Given the description of an element on the screen output the (x, y) to click on. 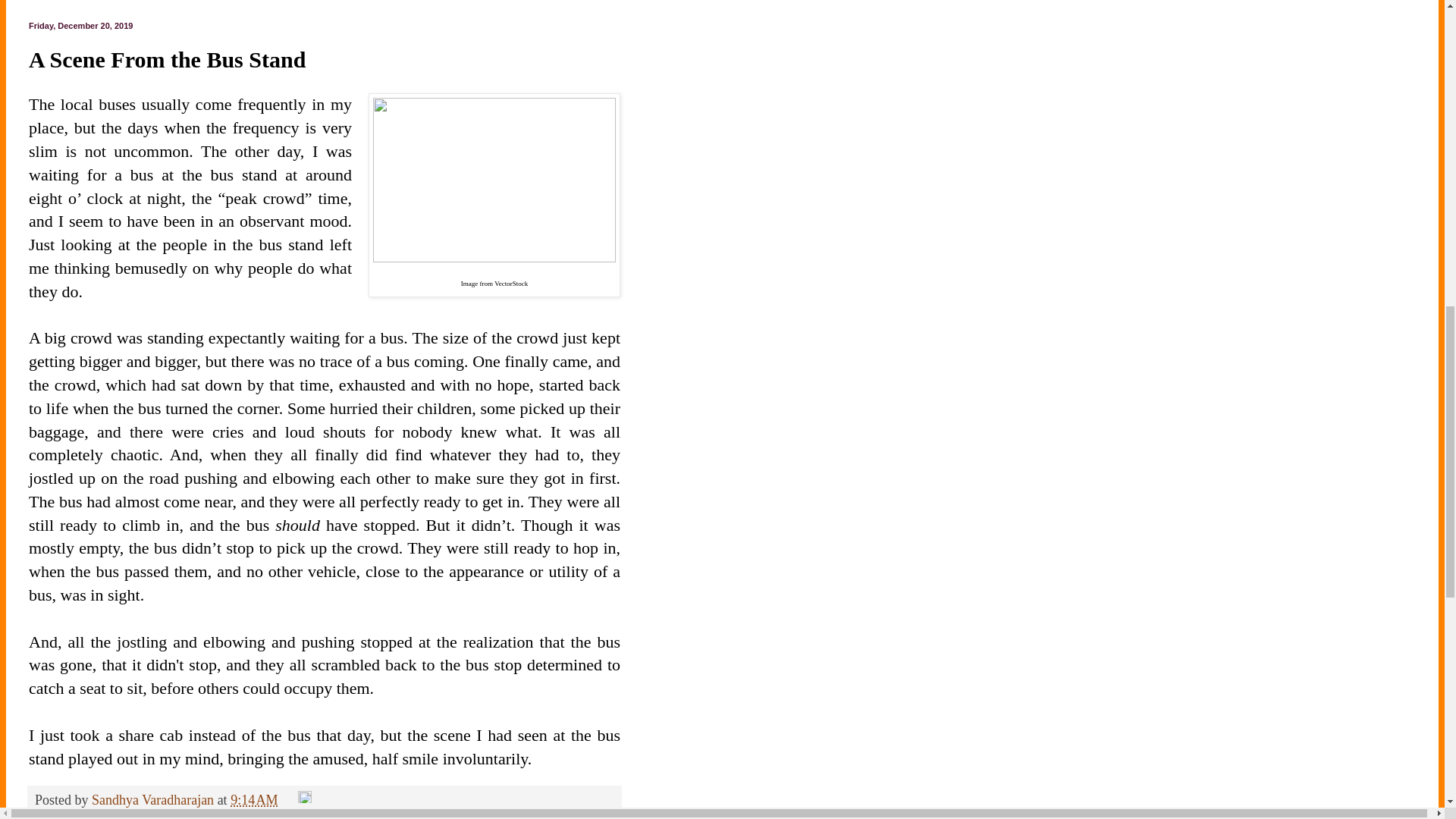
BlogThis! (121, 816)
BlogThis! (121, 816)
Email This (64, 816)
Share to Pinterest (387, 816)
Sandhya Varadharajan (153, 799)
Email Post (289, 799)
Edit Post (304, 799)
Share to Facebook (288, 816)
Share to Twitter (193, 816)
